Given the description of an element on the screen output the (x, y) to click on. 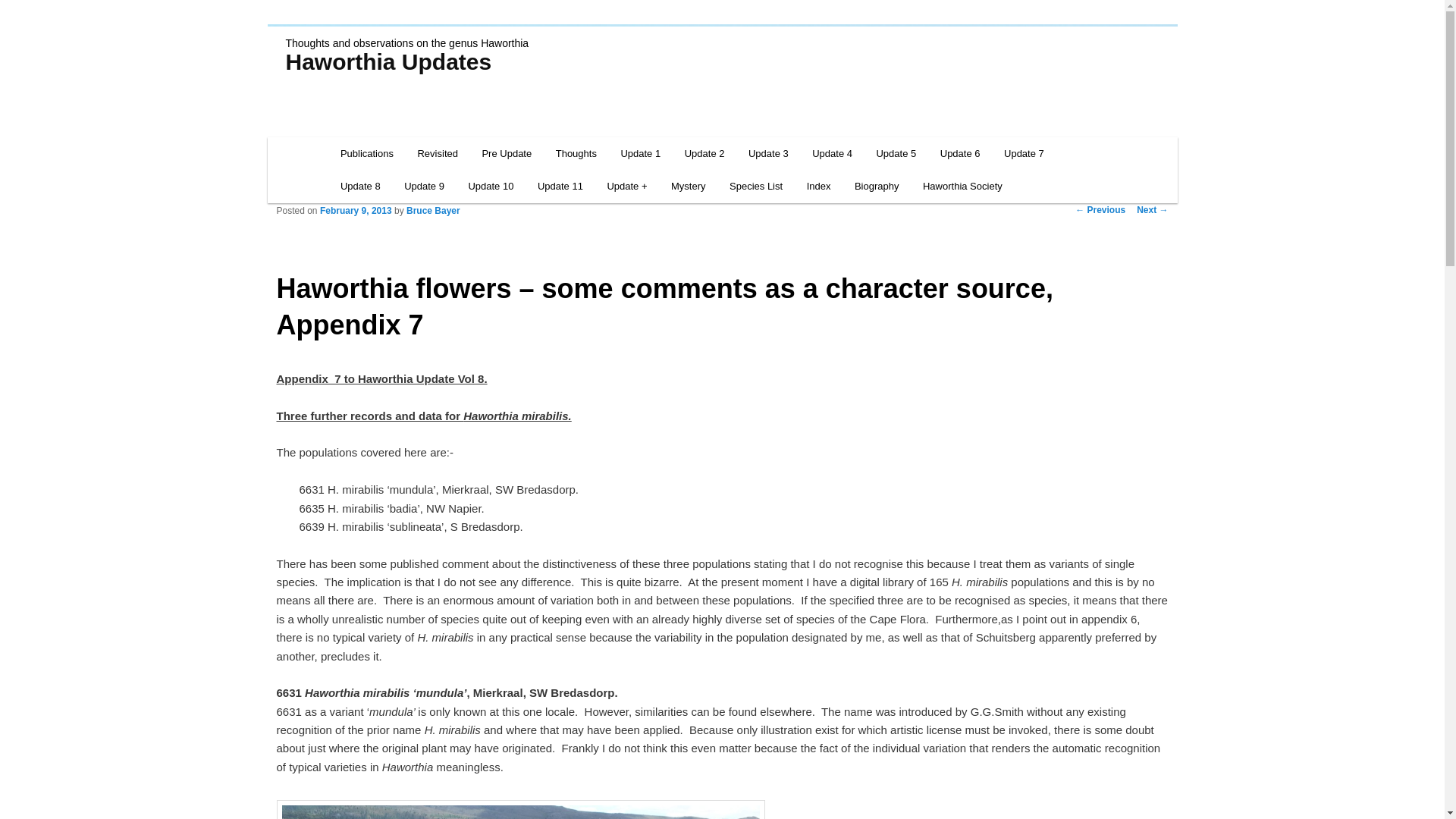
Haworthia Updates (388, 61)
Update 7 (1023, 153)
Biography (877, 185)
Index (818, 185)
Update 4 (831, 153)
Publications (367, 153)
Update 11 (560, 185)
Pre Update (506, 153)
Haworthia Updates (388, 61)
